Given the description of an element on the screen output the (x, y) to click on. 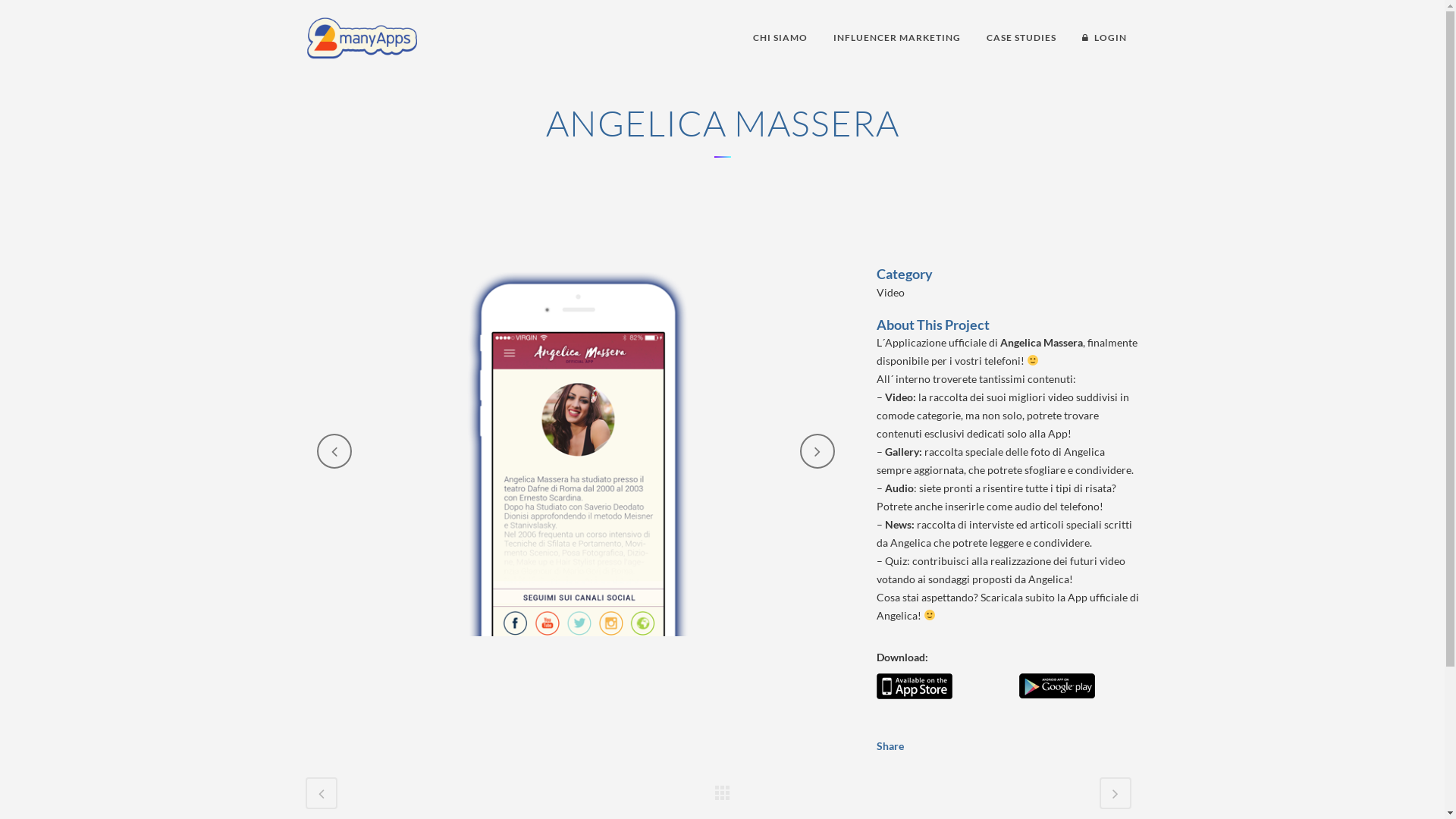
INFLUENCER MARKETING Element type: text (896, 37)
Share Element type: text (889, 745)
LOGIN Element type: text (1104, 37)
CASE STUDIES Element type: text (1021, 37)
CHI SIAMO Element type: text (780, 37)
